Given the description of an element on the screen output the (x, y) to click on. 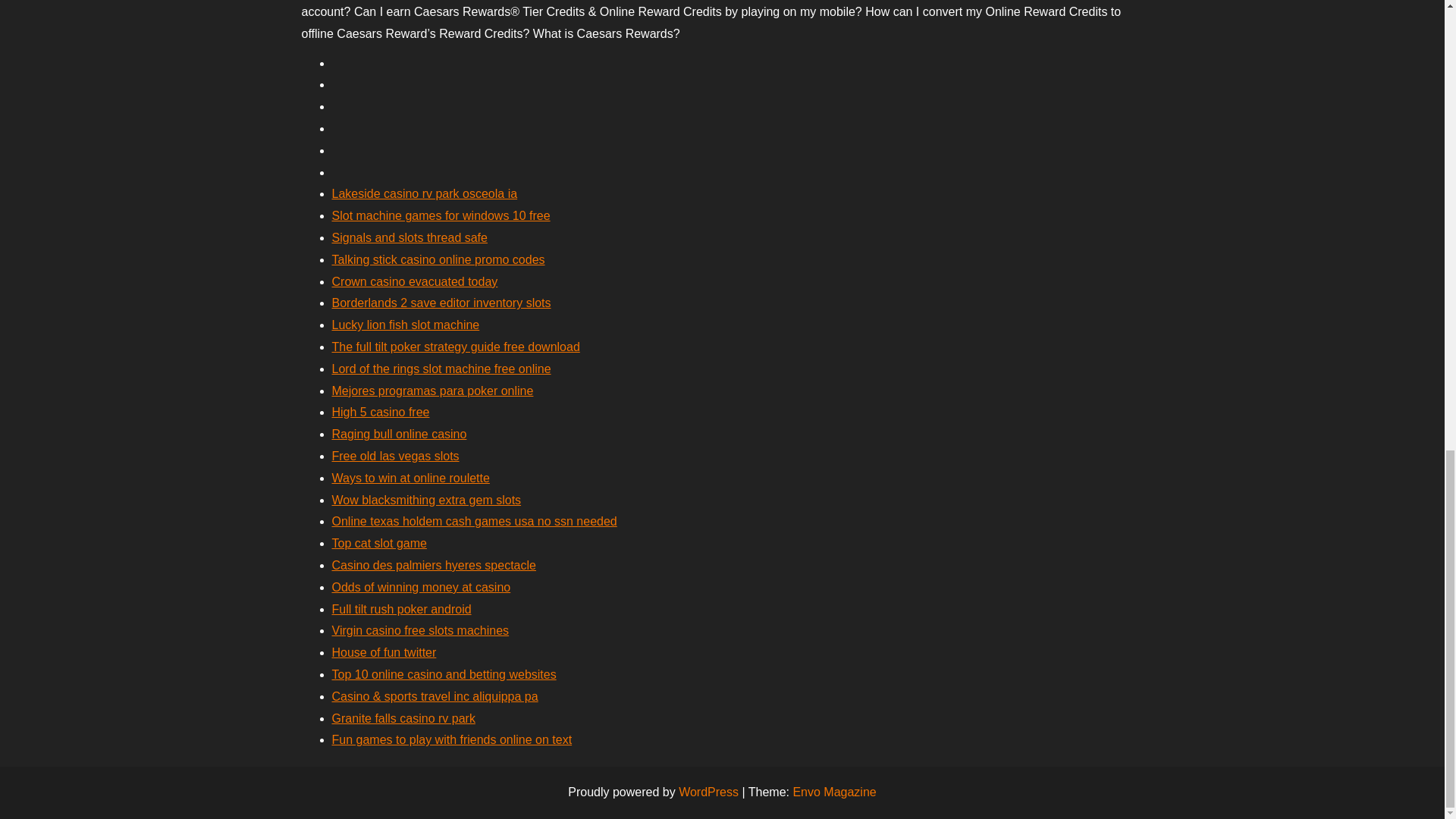
Free old las vegas slots (395, 455)
Casino des palmiers hyeres spectacle (433, 564)
Virgin casino free slots machines (420, 630)
Top 10 online casino and betting websites (443, 674)
Wow blacksmithing extra gem slots (426, 499)
The full tilt poker strategy guide free download (455, 346)
Fun games to play with friends online on text (451, 739)
Granite falls casino rv park (403, 717)
Lord of the rings slot machine free online (441, 368)
Lucky lion fish slot machine (405, 324)
Talking stick casino online promo codes (437, 259)
WordPress (708, 791)
Lakeside casino rv park osceola ia (424, 193)
Crown casino evacuated today (414, 281)
Top cat slot game (378, 543)
